Given the description of an element on the screen output the (x, y) to click on. 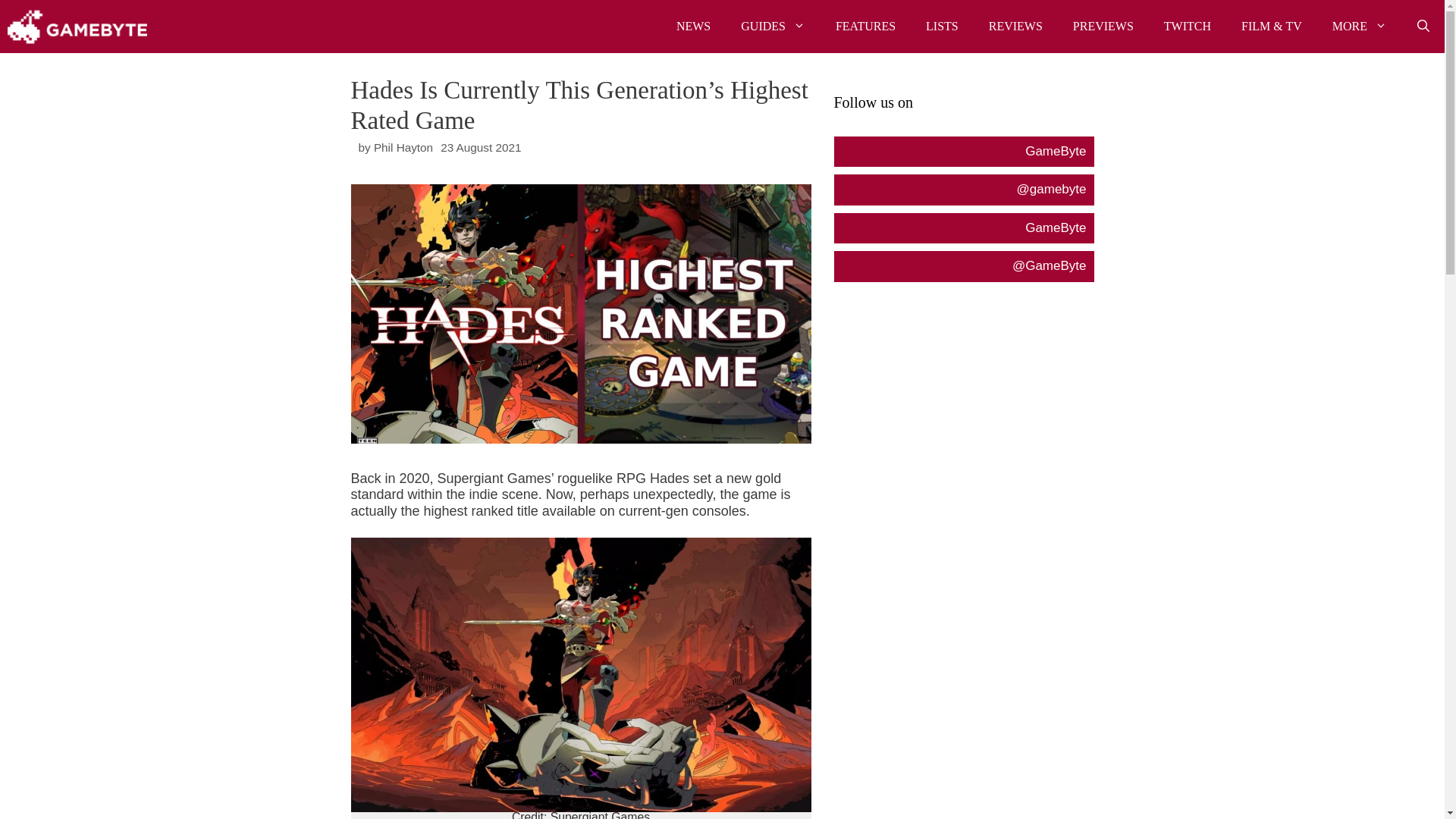
NEWS (693, 26)
GameByte (77, 26)
Gamebyte Twitter (963, 265)
Gamebyte Facebook (963, 151)
View all posts by Phil Hayton (403, 146)
Gamebyte Youtube (963, 227)
Gamebyte Instagram (963, 189)
GUIDES (773, 26)
